Given the description of an element on the screen output the (x, y) to click on. 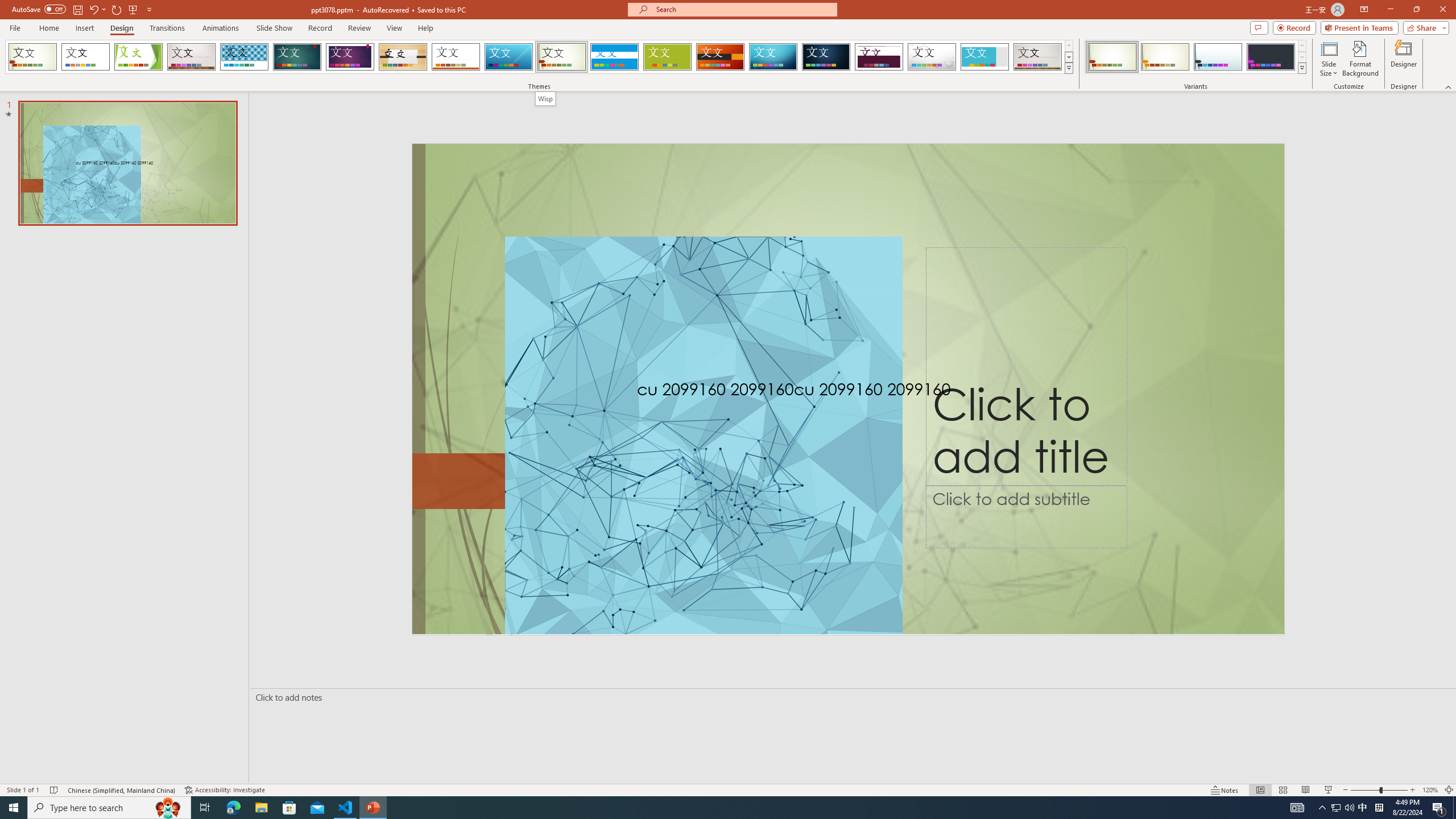
Insert (83, 28)
Wisp (545, 98)
Droplet Loading Preview... (931, 56)
Design (122, 28)
Themes (1068, 67)
AutomationID: ThemeVariantsGallery (1195, 56)
Format Background (1360, 58)
Dividend Loading Preview... (879, 56)
